Given the description of an element on the screen output the (x, y) to click on. 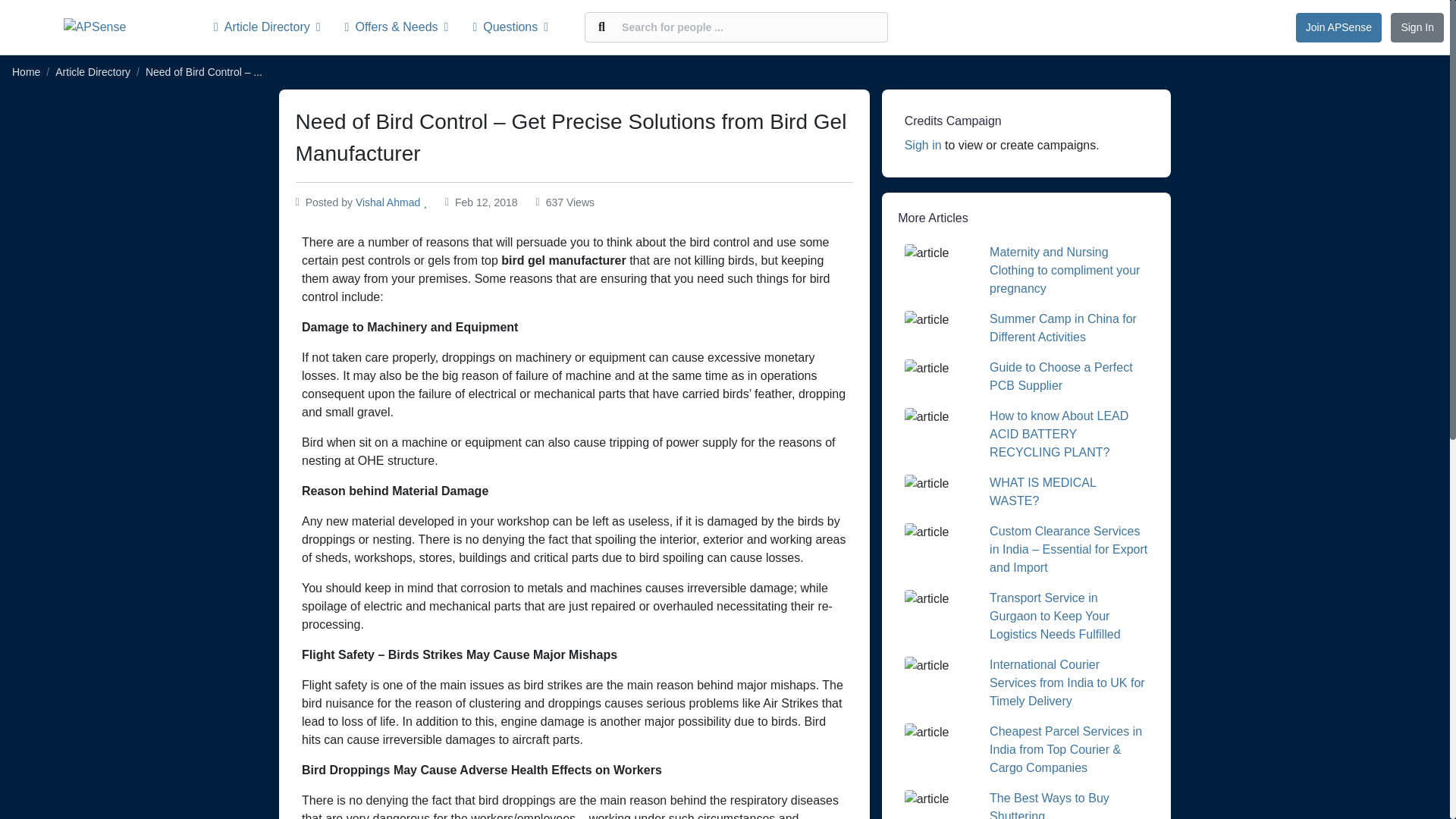
Summer Camp in China for Different Activities (1063, 327)
Sign In (1417, 27)
Article Directory (93, 71)
Maternity and Nursing Clothing to compliment your pregnancy (1065, 269)
Questions (510, 27)
Sigh in (923, 144)
Article Directory (273, 27)
Vishal Ahmad (387, 202)
Guide to Choose a Perfect PCB Supplier (1061, 376)
